Given the description of an element on the screen output the (x, y) to click on. 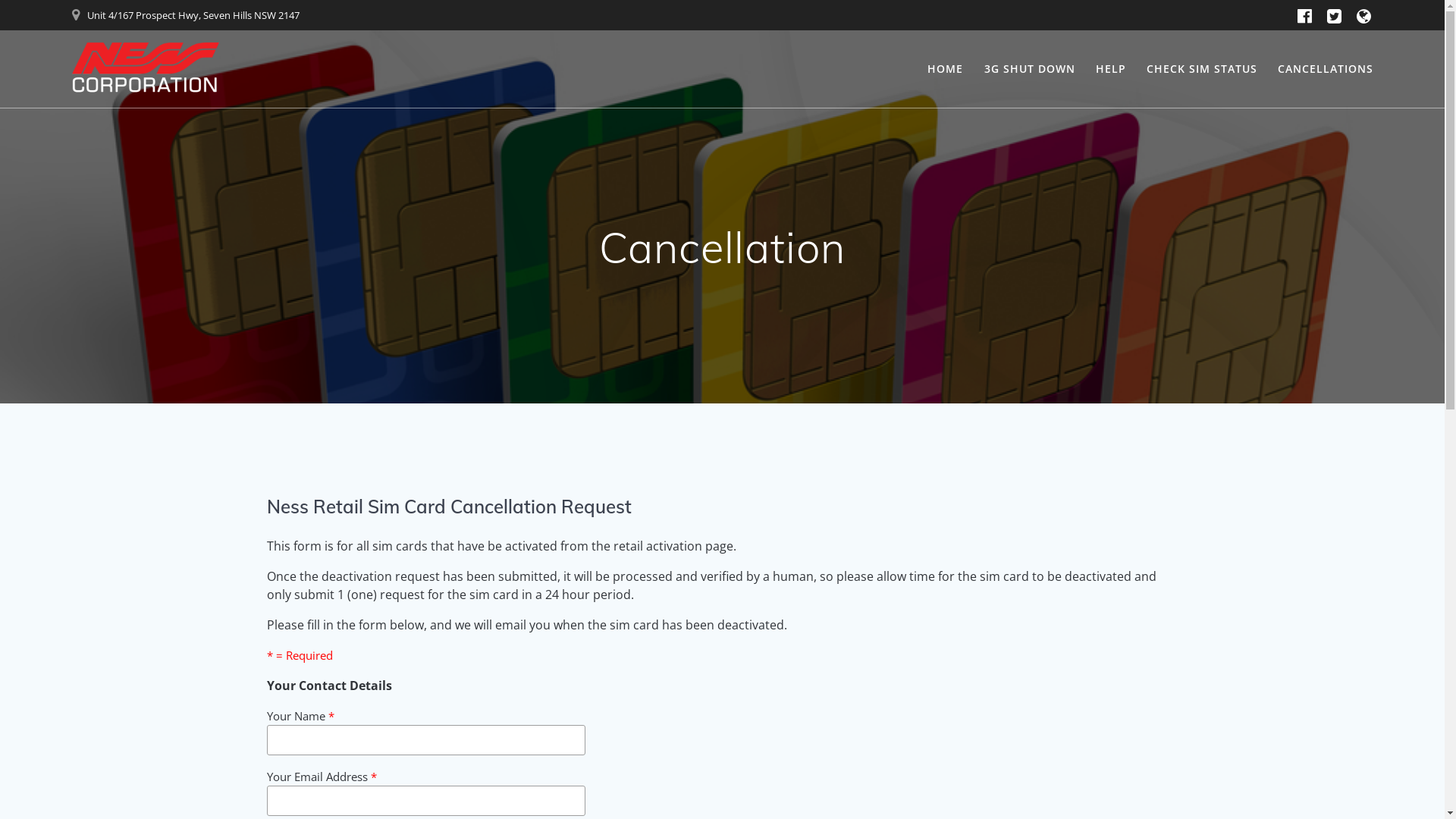
3G SHUT DOWN Element type: text (1029, 68)
HELP Element type: text (1110, 68)
CHECK SIM STATUS Element type: text (1201, 68)
CANCELLATIONS Element type: text (1325, 68)
HOME Element type: text (945, 68)
